Given the description of an element on the screen output the (x, y) to click on. 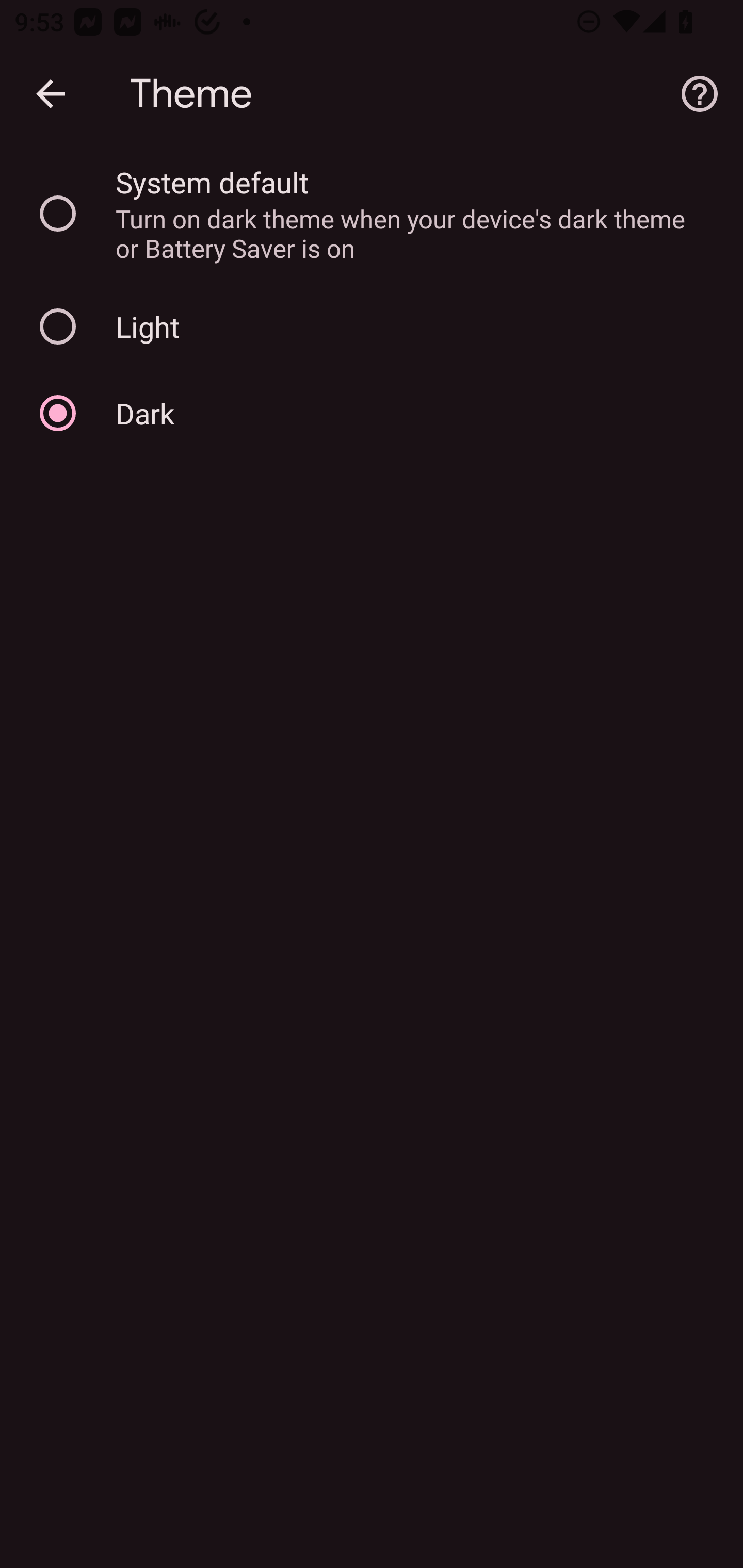
Navigate up (50, 93)
Help & feedback (699, 93)
Light (371, 326)
Dark (371, 413)
